Given the description of an element on the screen output the (x, y) to click on. 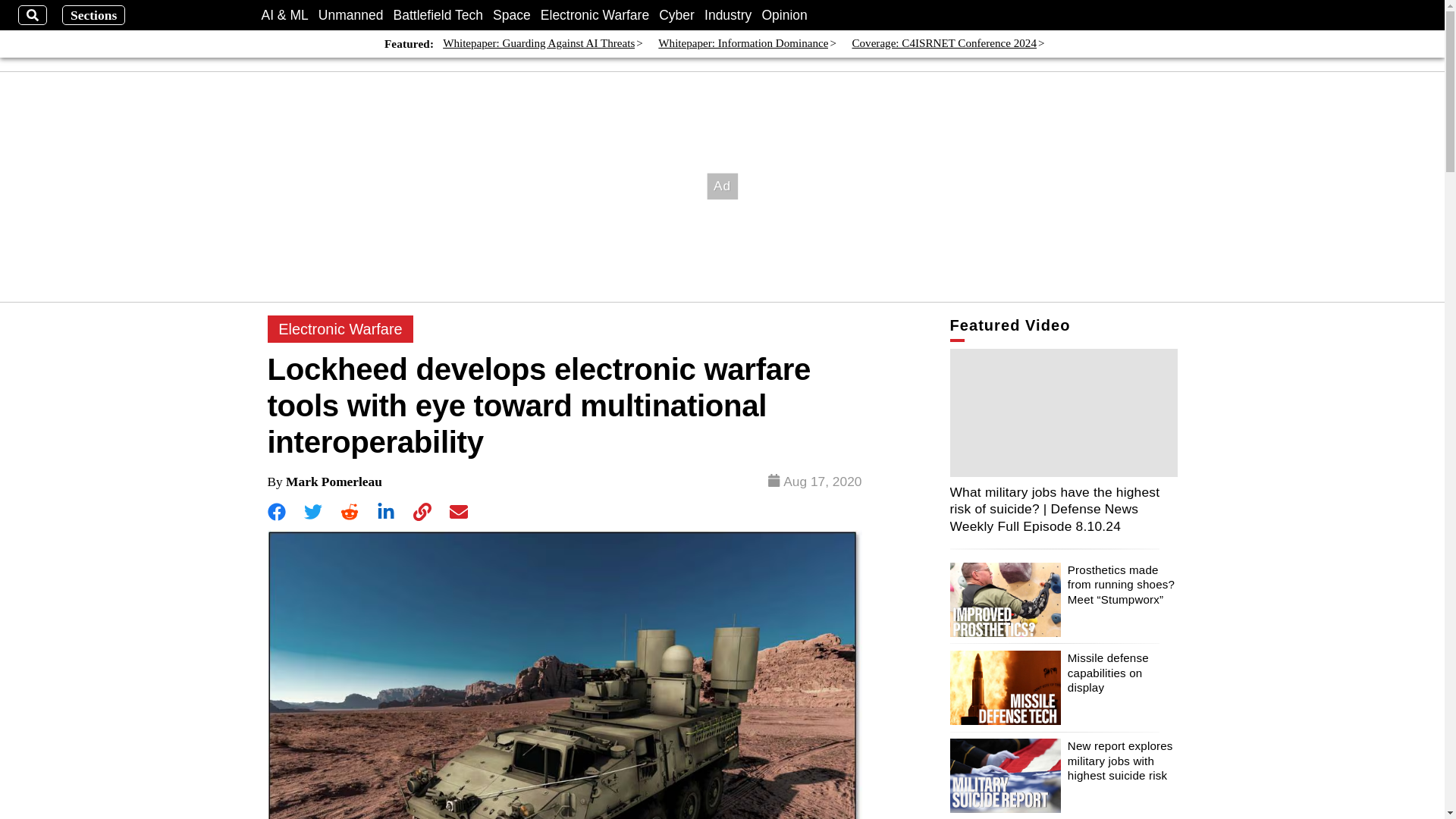
Cyber (676, 14)
Whitepaper: Information Dominance (743, 43)
Industry (727, 14)
Electronic Warfare (340, 329)
Whitepaper: Guarding Against AI Threats (538, 43)
Opinion (783, 14)
Sections (93, 14)
Space (512, 14)
Coverage: C4ISRNET Conference 2024 (943, 43)
Battlefield Tech (438, 14)
